Given the description of an element on the screen output the (x, y) to click on. 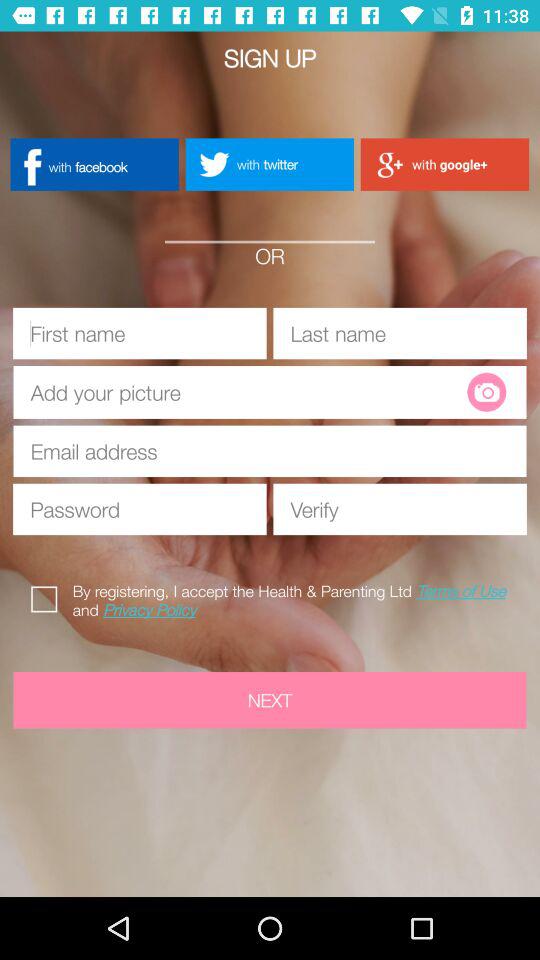
open icon to the left of the by registering i icon (48, 596)
